Given the description of an element on the screen output the (x, y) to click on. 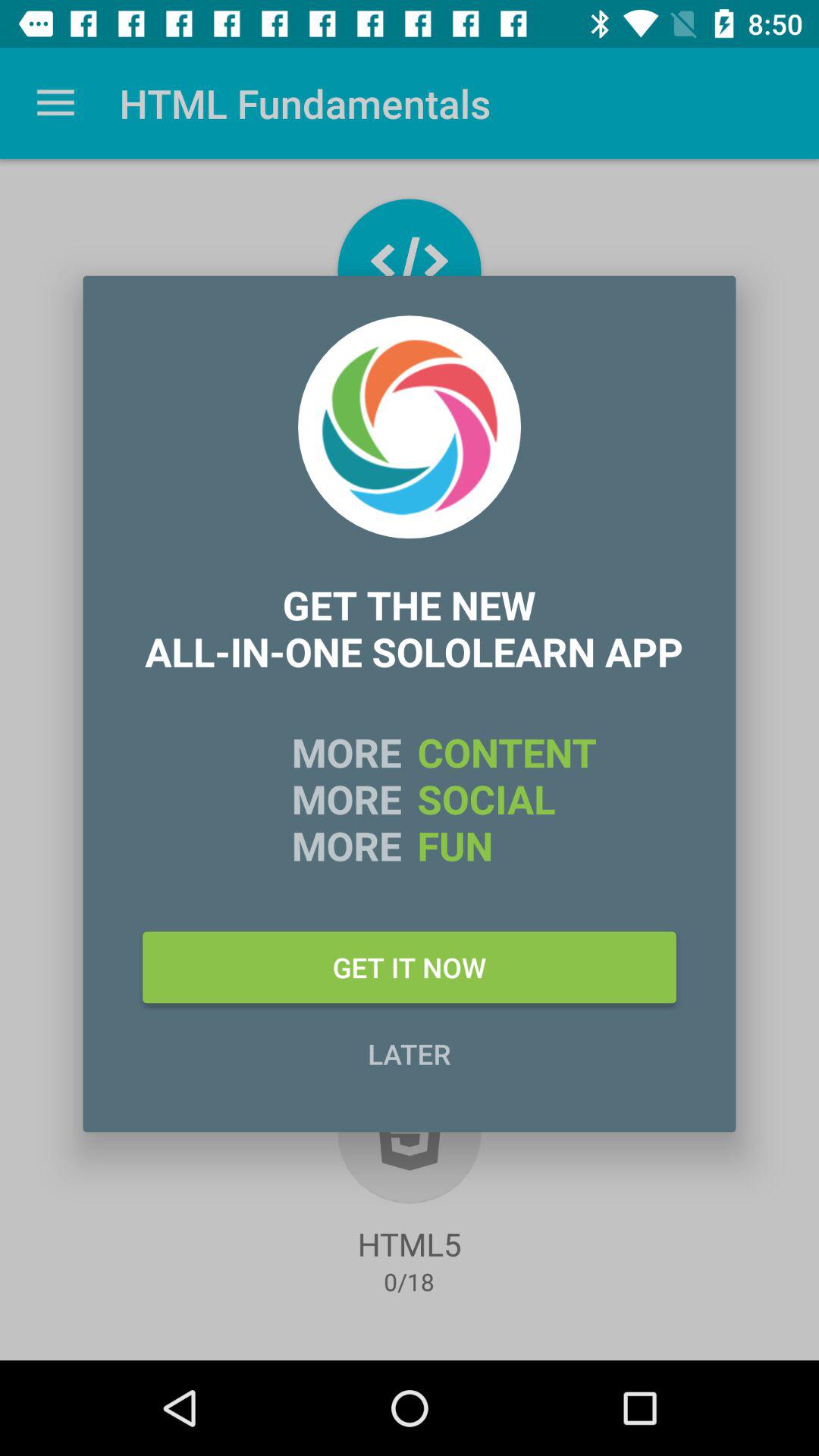
launch the item at the bottom (409, 1053)
